Given the description of an element on the screen output the (x, y) to click on. 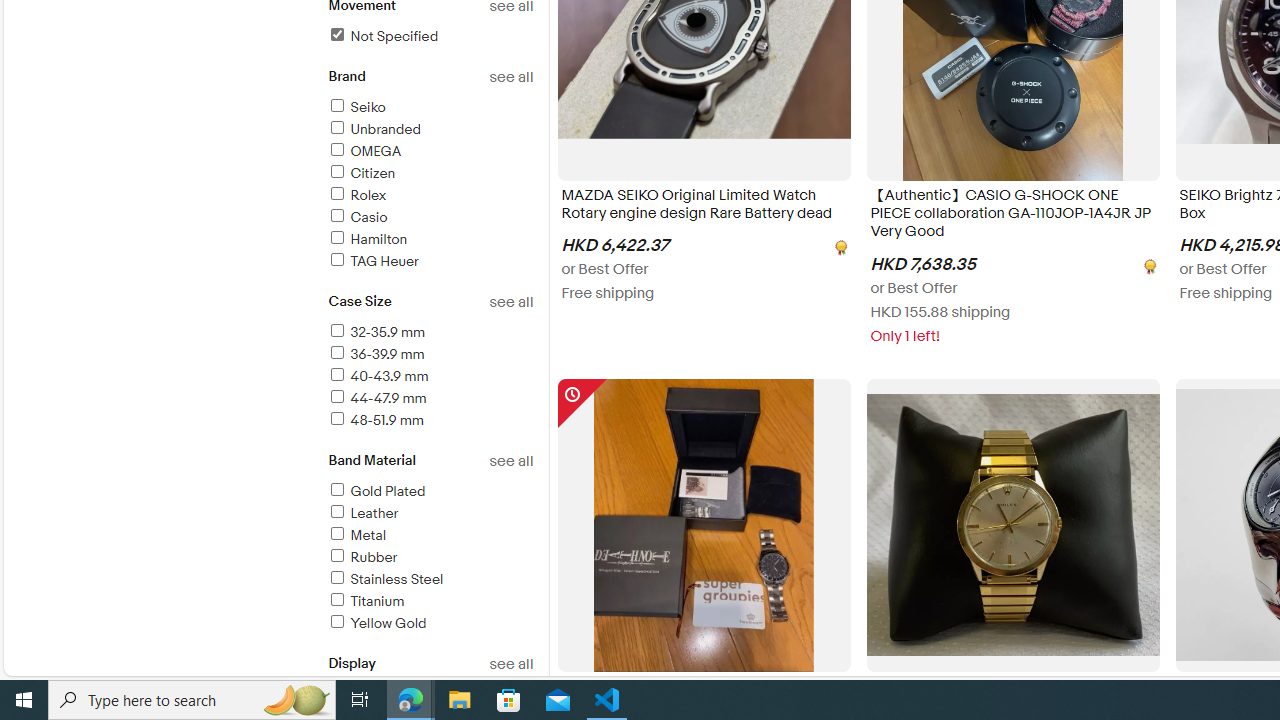
44-47.9 mm (430, 399)
Casio (430, 218)
Unbranded (430, 129)
Not Specified Filter Applied (382, 36)
Metal (356, 535)
Casio (356, 217)
Seiko (430, 108)
40-43.9 mm (430, 377)
Leather (362, 513)
Not SpecifiedFilter Applied (430, 37)
TAG Heuer (430, 262)
Hamilton (430, 240)
44-47.9 mm (376, 398)
Seiko (356, 107)
